Given the description of an element on the screen output the (x, y) to click on. 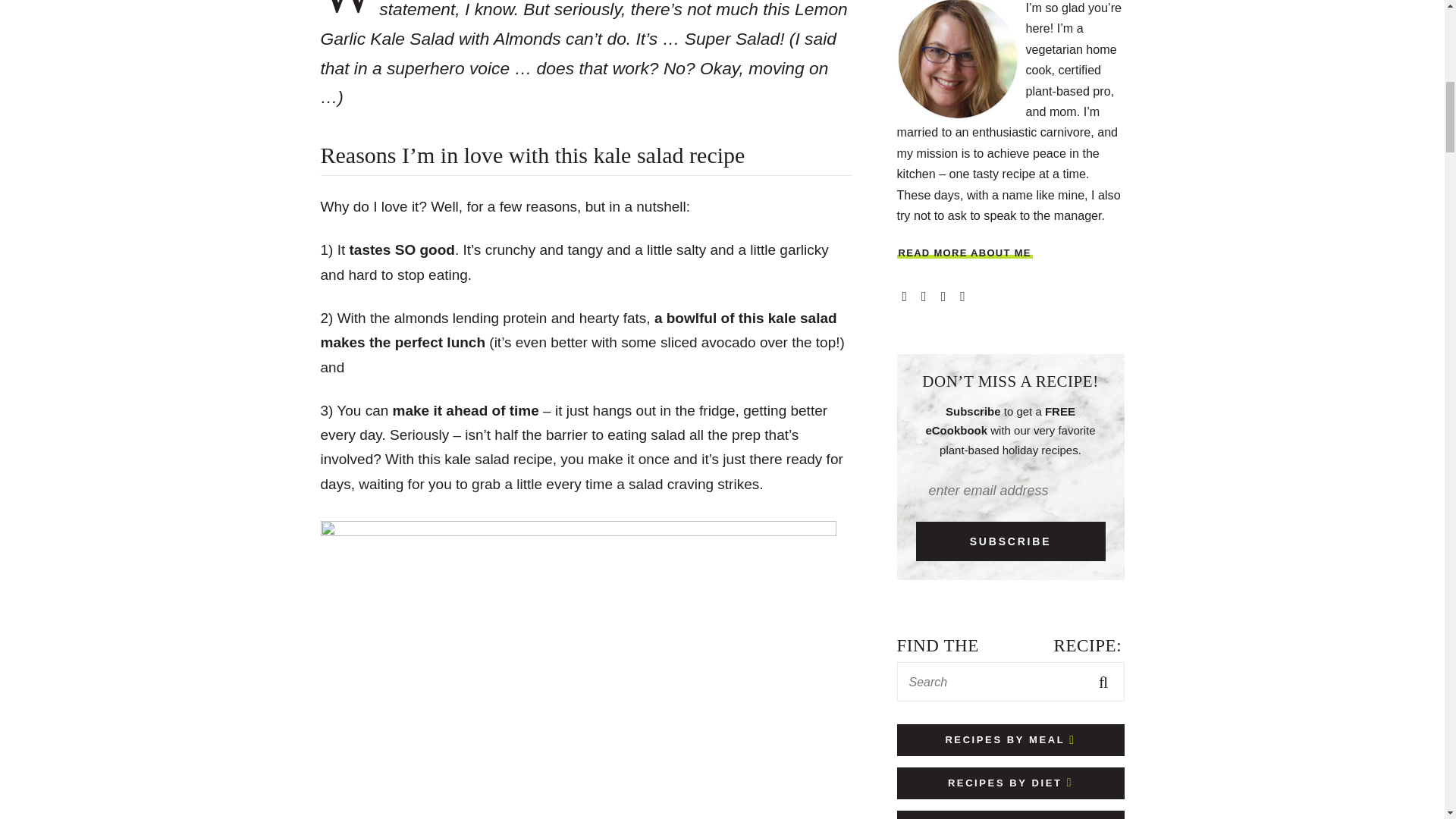
Subscribe (1010, 541)
